Given the description of an element on the screen output the (x, y) to click on. 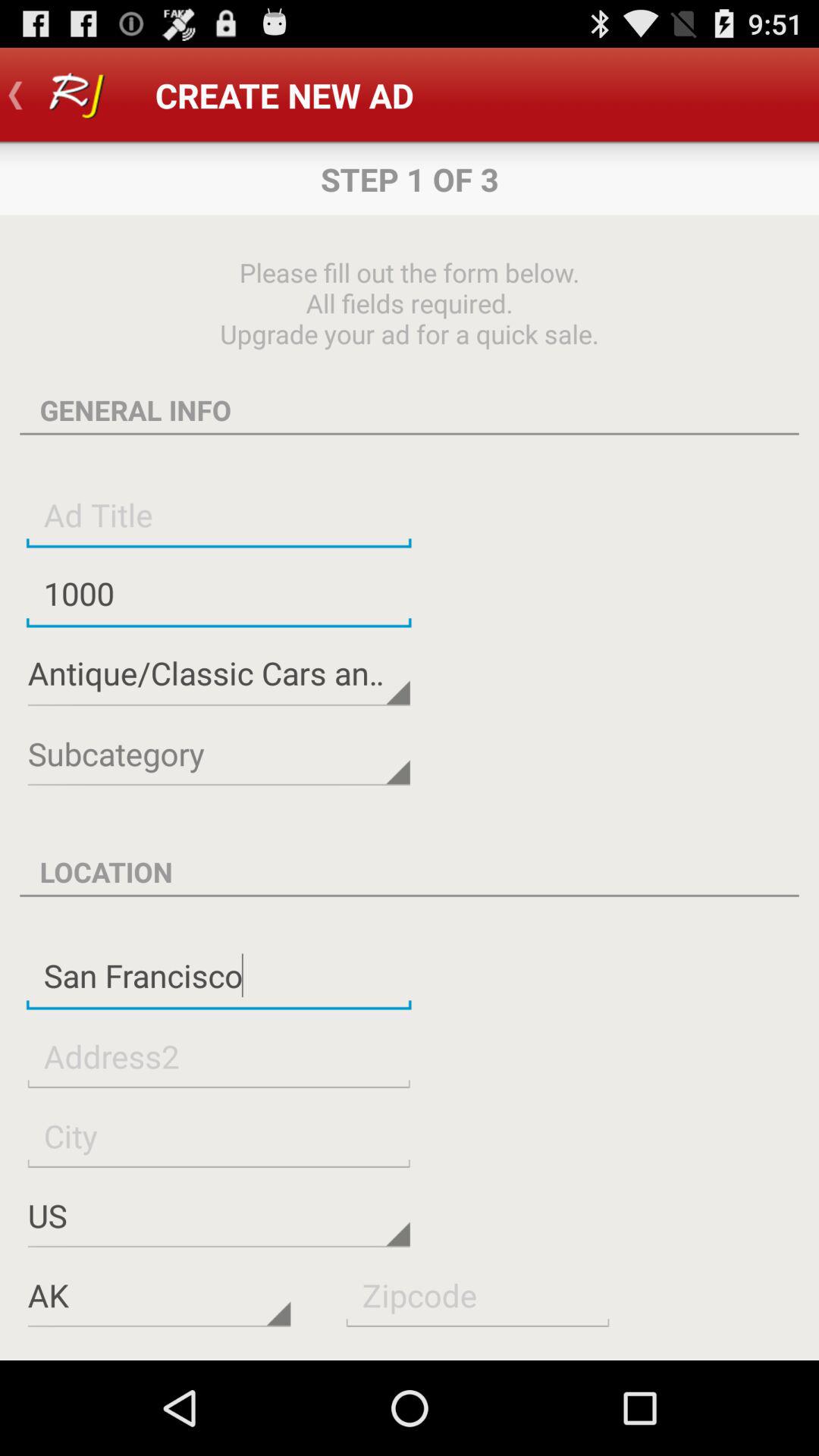
enter zip code (477, 1294)
